Given the description of an element on the screen output the (x, y) to click on. 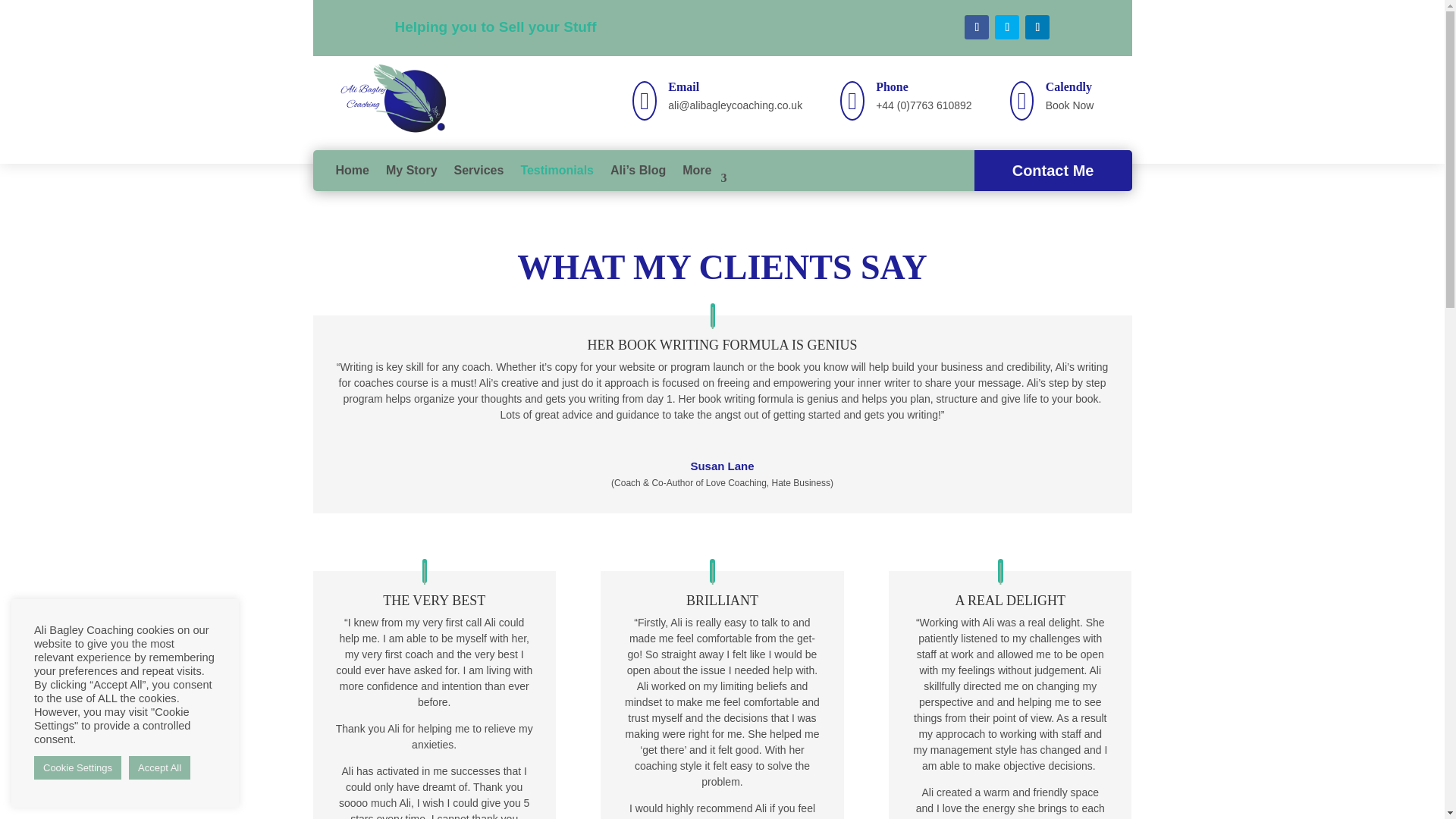
Testimonials (556, 169)
More (704, 169)
Contact Me (1053, 169)
Services (478, 169)
Email (683, 86)
My Story (411, 169)
Cookie Settings (76, 767)
Follow on Facebook (975, 27)
Phone (892, 86)
Accept All (159, 767)
Calendly (1068, 86)
ali-bagly-logo (397, 100)
Follow on Twitter (1006, 27)
Follow on LinkedIn (1037, 27)
